Given the description of an element on the screen output the (x, y) to click on. 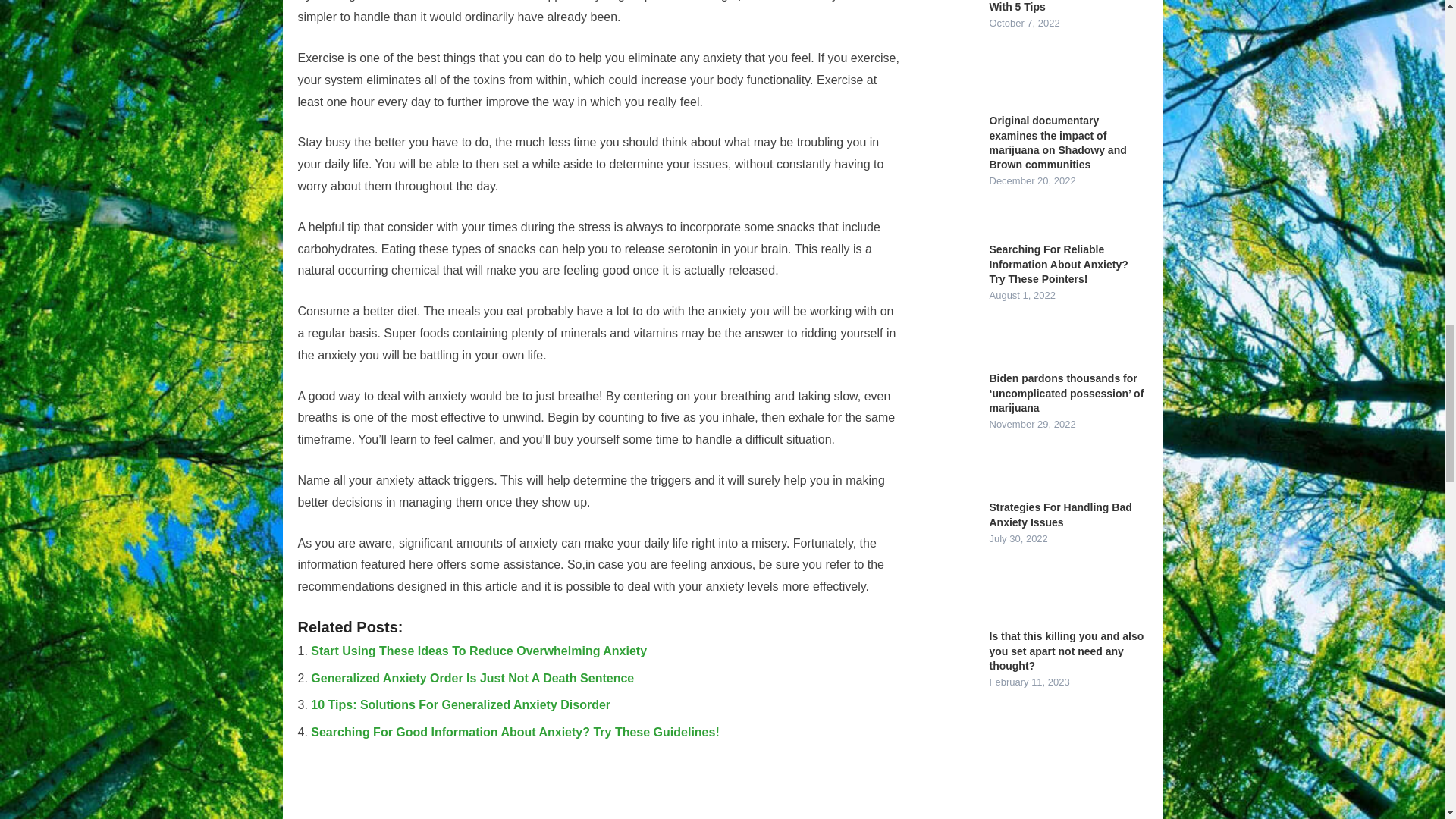
Start Using These Ideas To Reduce Overwhelming Anxiety (478, 650)
10 Tips: Solutions For Generalized Anxiety Disorder (460, 704)
Generalized Anxiety Order Is Just Not A Death Sentence (472, 677)
10 Tips: Solutions For Generalized Anxiety Disorder (460, 704)
Start Using These Ideas To Reduce Overwhelming Anxiety (478, 650)
Generalized Anxiety Order Is Just Not A Death Sentence (472, 677)
